Given the description of an element on the screen output the (x, y) to click on. 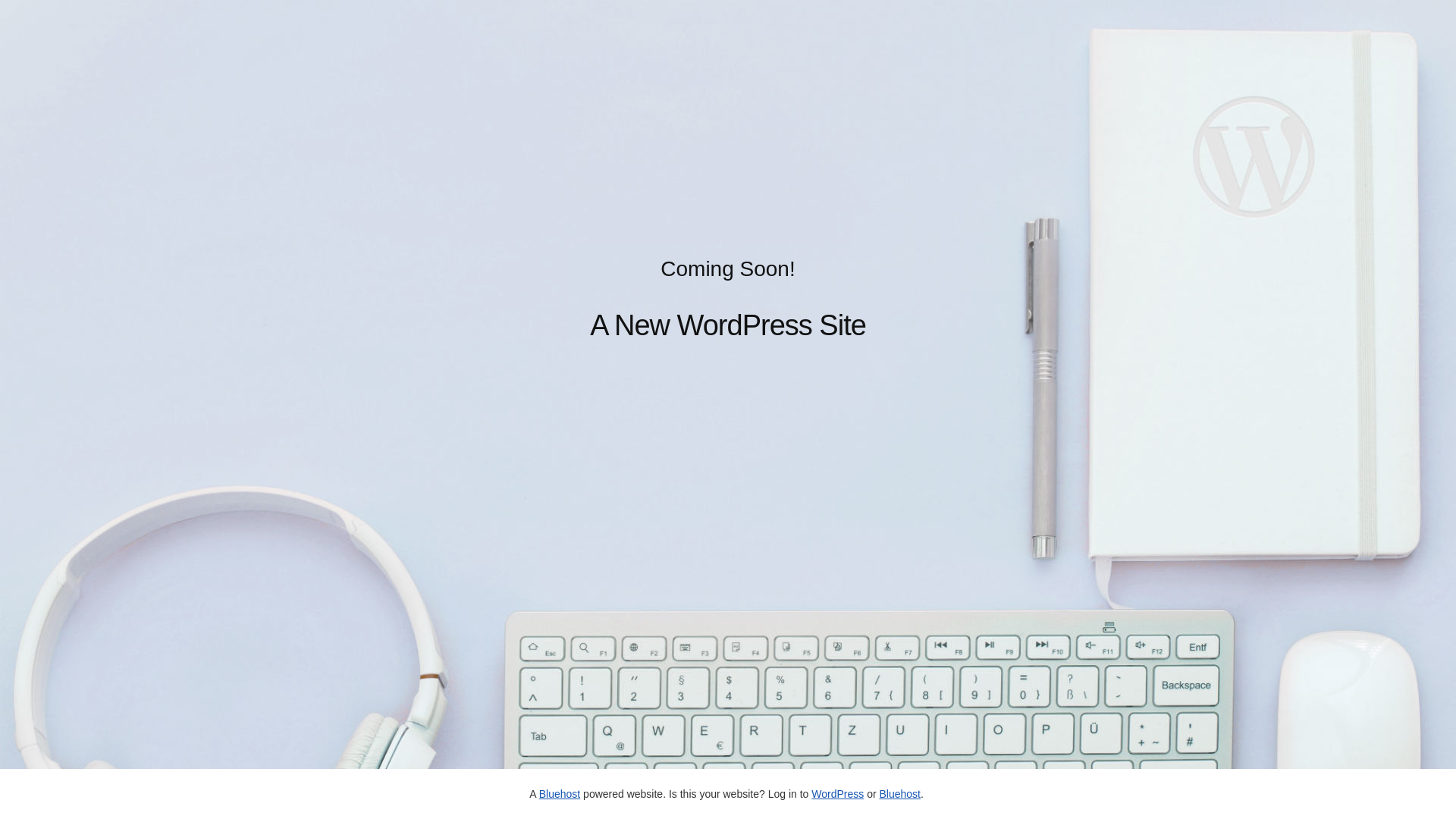
Bluehost Element type: text (898, 793)
WordPress Element type: text (837, 793)
Bluehost Element type: text (559, 793)
